Given the description of an element on the screen output the (x, y) to click on. 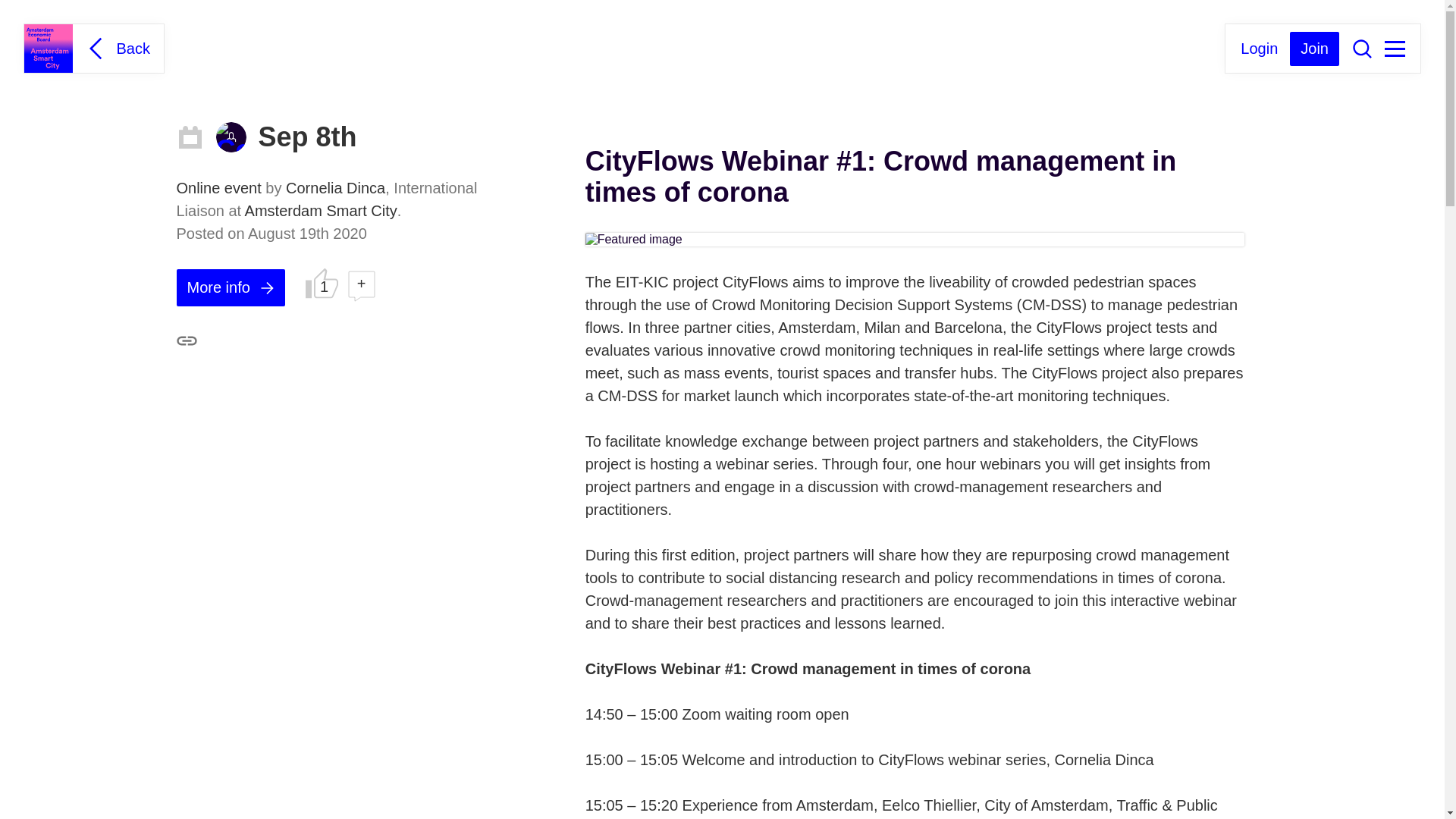
Amsterdam Smart City (320, 210)
1 person liked this (321, 282)
More info (229, 287)
Login (1259, 47)
Open menu (1394, 48)
Search (1362, 47)
Back (115, 48)
Login (1259, 47)
Copy link to clipboard (186, 340)
Join (1314, 48)
Cornelia Dinca (230, 137)
Online event (220, 187)
Register (1314, 48)
Cornelia Dinca (335, 187)
1 (321, 282)
